Given the description of an element on the screen output the (x, y) to click on. 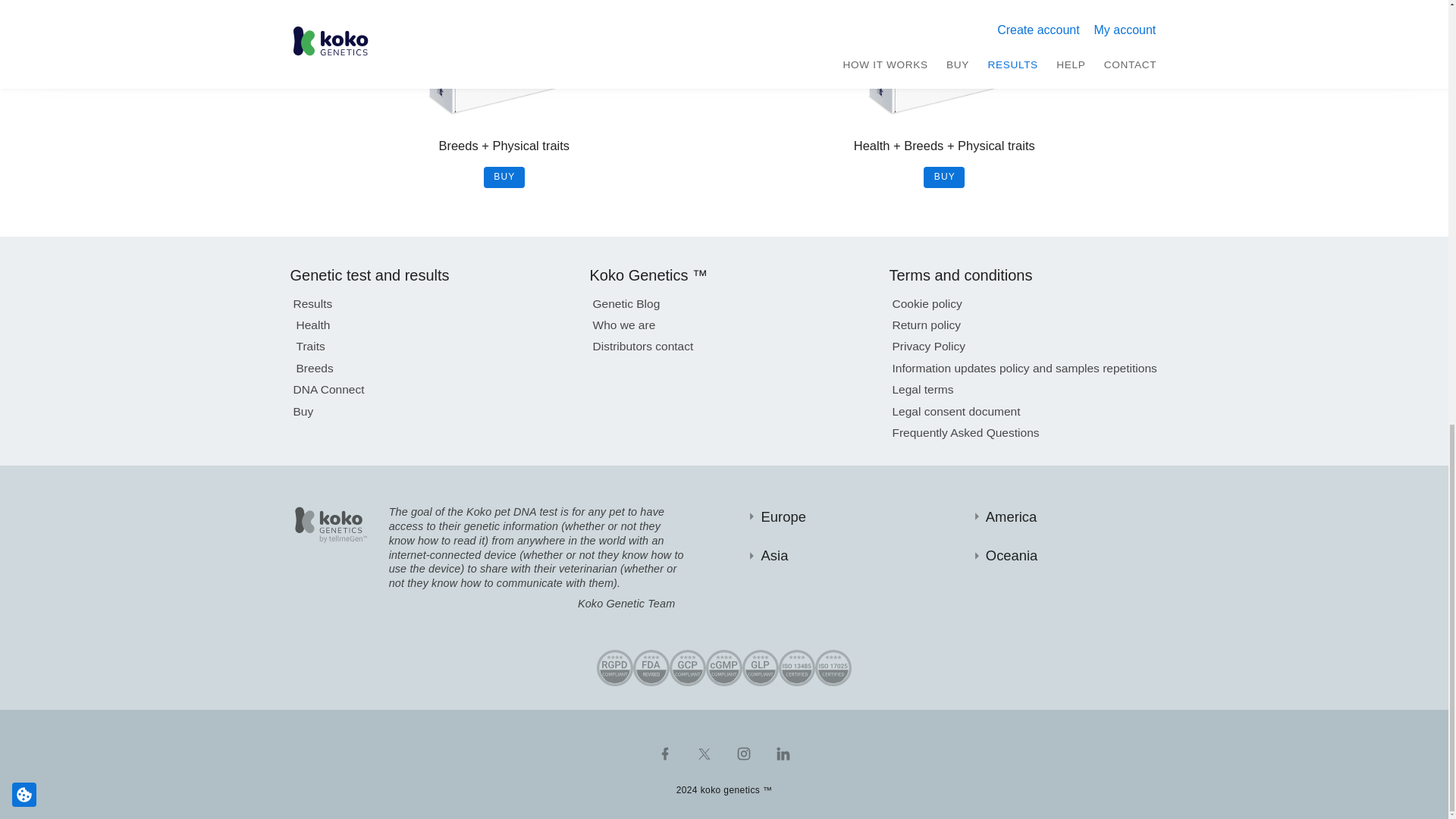
Traits (309, 343)
Who we are (623, 322)
Genetic Blog (625, 301)
Breeds (314, 365)
BUY (503, 177)
Results (311, 301)
Information updates policy and samples repetitions (1023, 365)
Health (312, 322)
Buy (302, 408)
Privacy Policy (928, 343)
Legal terms (922, 386)
Legal consent document (955, 408)
Frequently Asked Questions (965, 430)
Return policy (925, 322)
DNA Connect (328, 386)
